Given the description of an element on the screen output the (x, y) to click on. 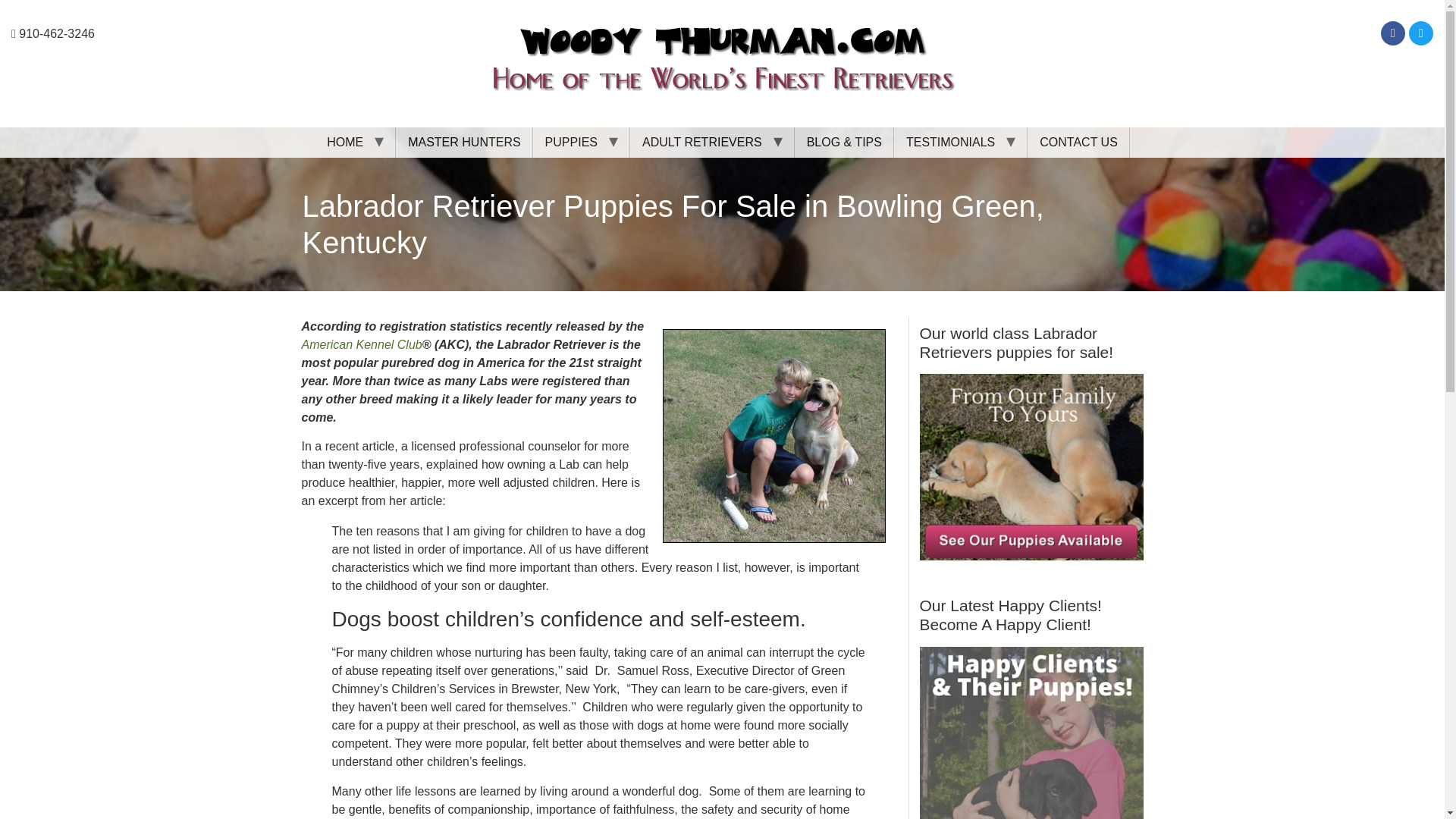
ADULT RETRIEVERS (701, 142)
CONTACT US (1078, 142)
HOME (344, 142)
American Kennel Club (361, 344)
PUPPIES (571, 142)
TESTIMONIALS (950, 142)
910-462-3246 (52, 33)
American Kennel Club (361, 344)
MASTER HUNTERS (463, 142)
